Given the description of an element on the screen output the (x, y) to click on. 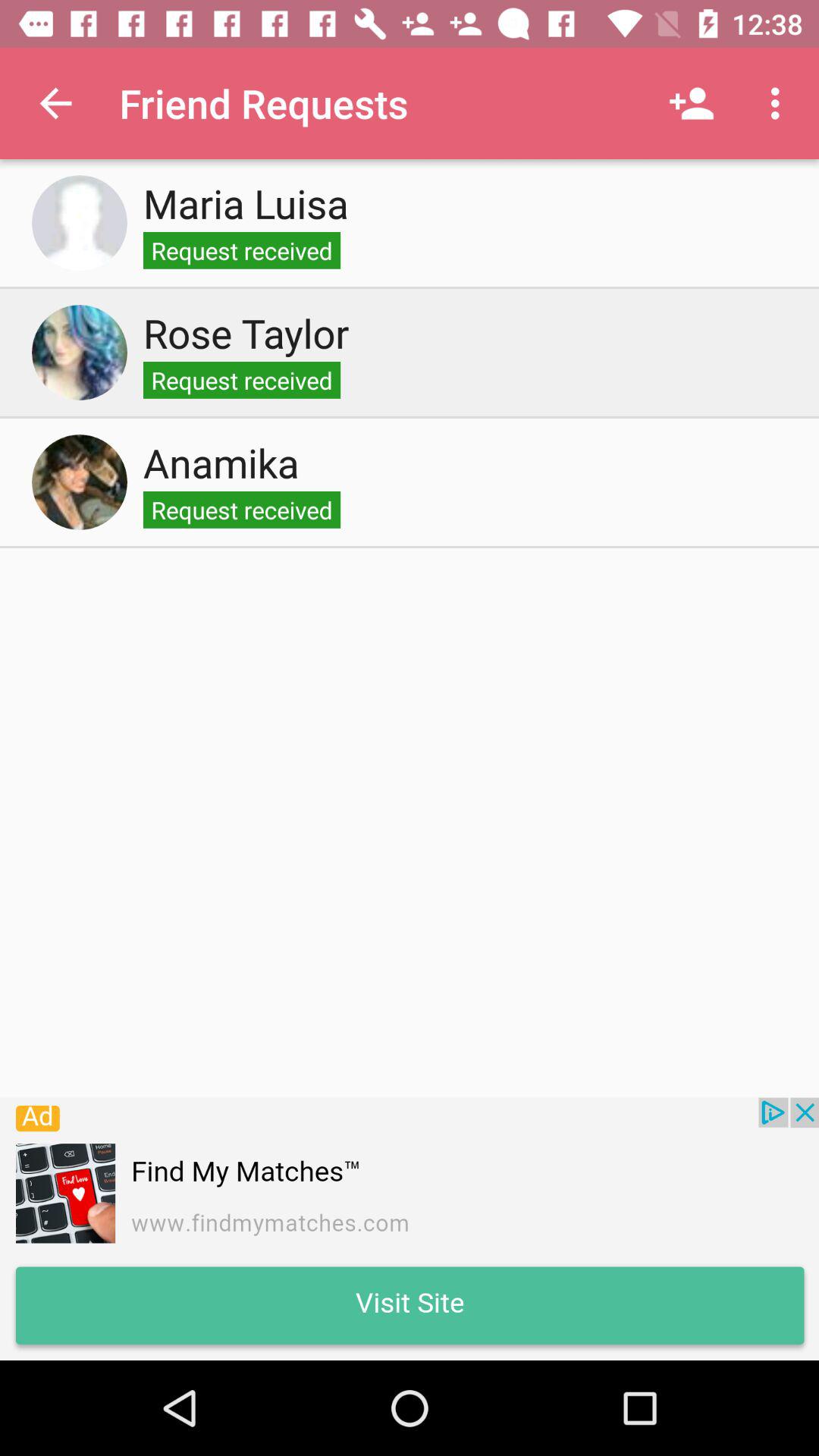
show profile information (79, 222)
